Given the description of an element on the screen output the (x, y) to click on. 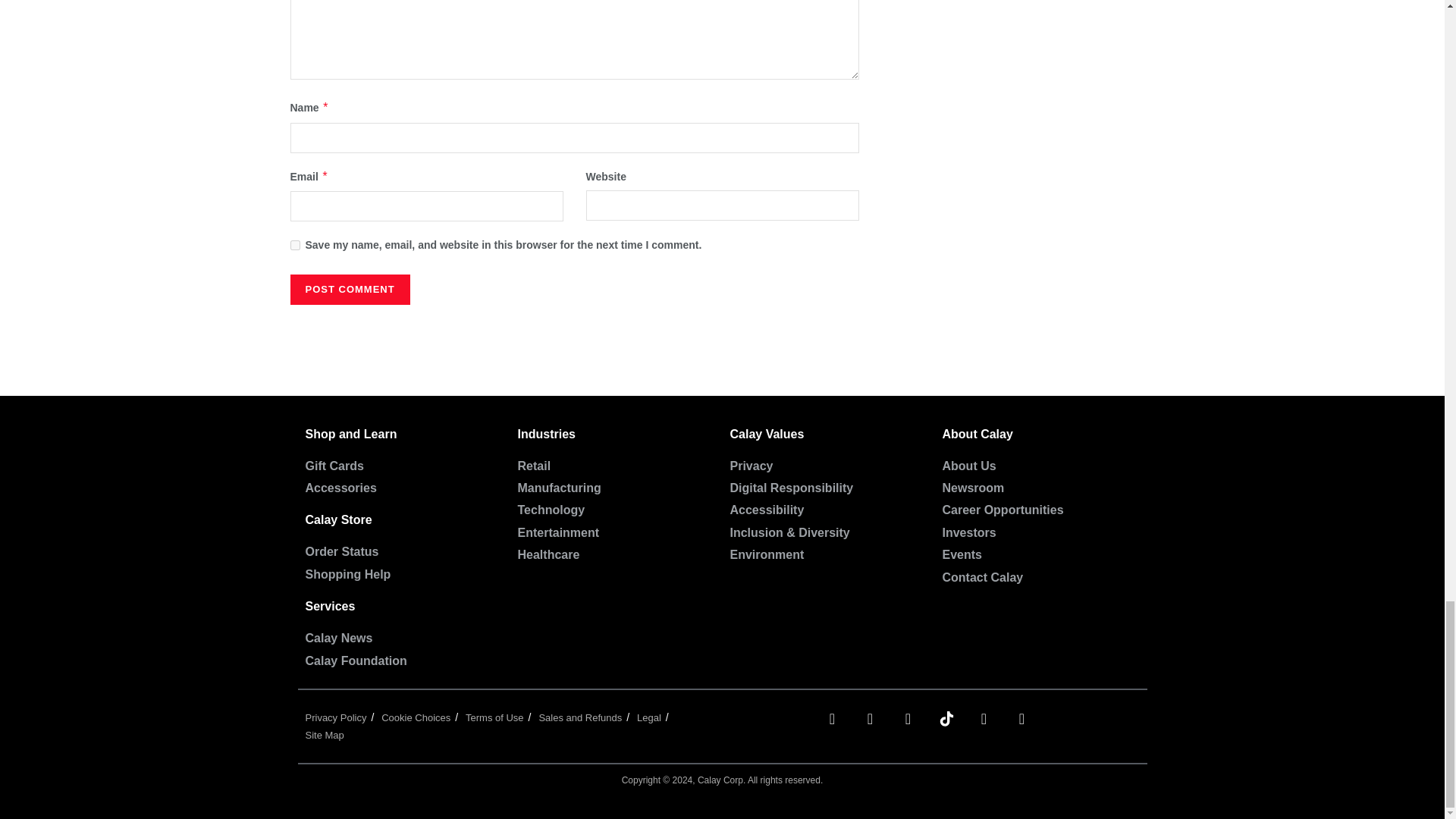
yes (294, 245)
Post Comment (349, 289)
